Given the description of an element on the screen output the (x, y) to click on. 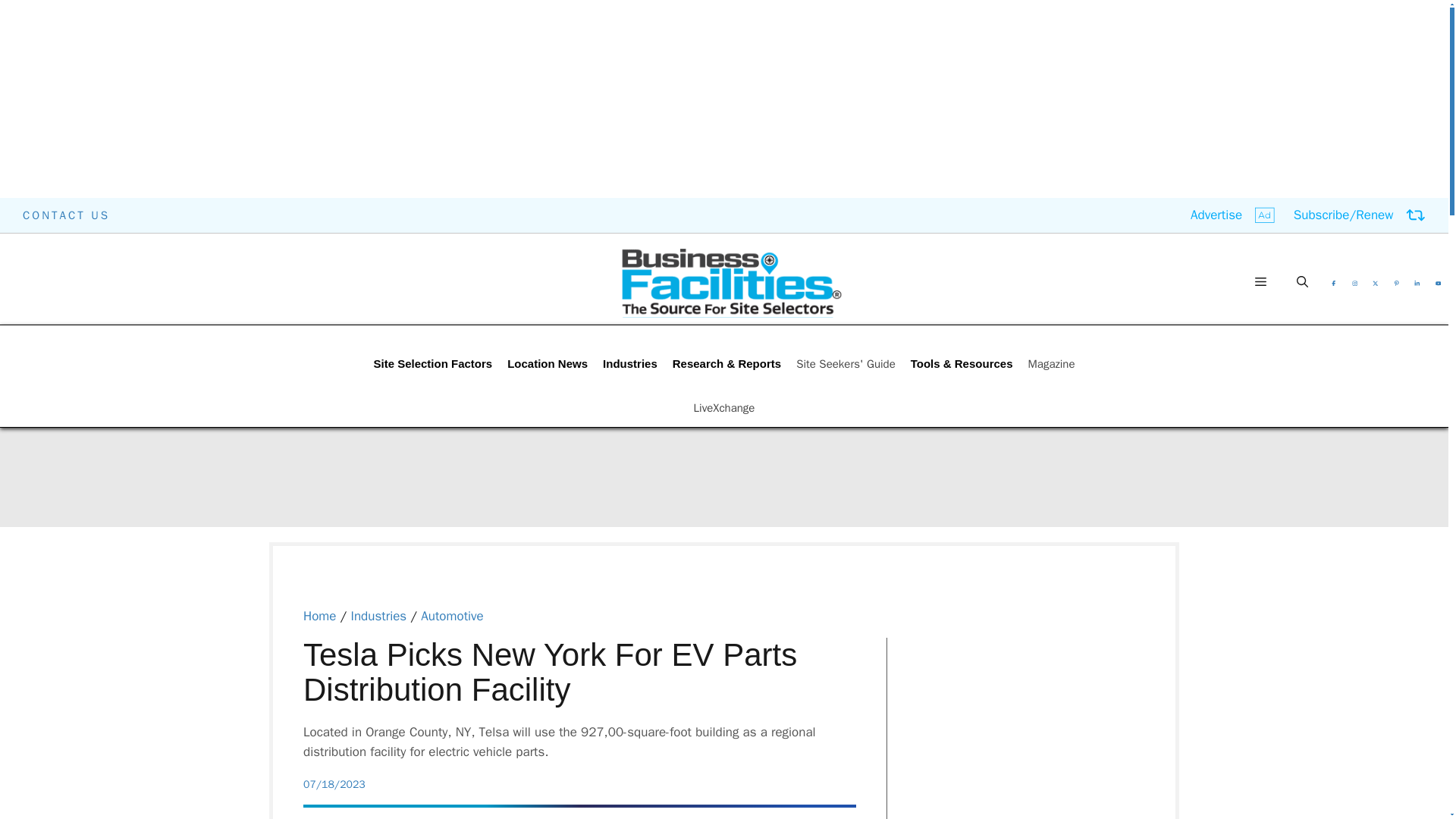
Site Selection Factors (432, 364)
Business Facilities Magazine (731, 281)
CONTACT US (66, 214)
Advertise (1233, 215)
Location News (547, 364)
